Given the description of an element on the screen output the (x, y) to click on. 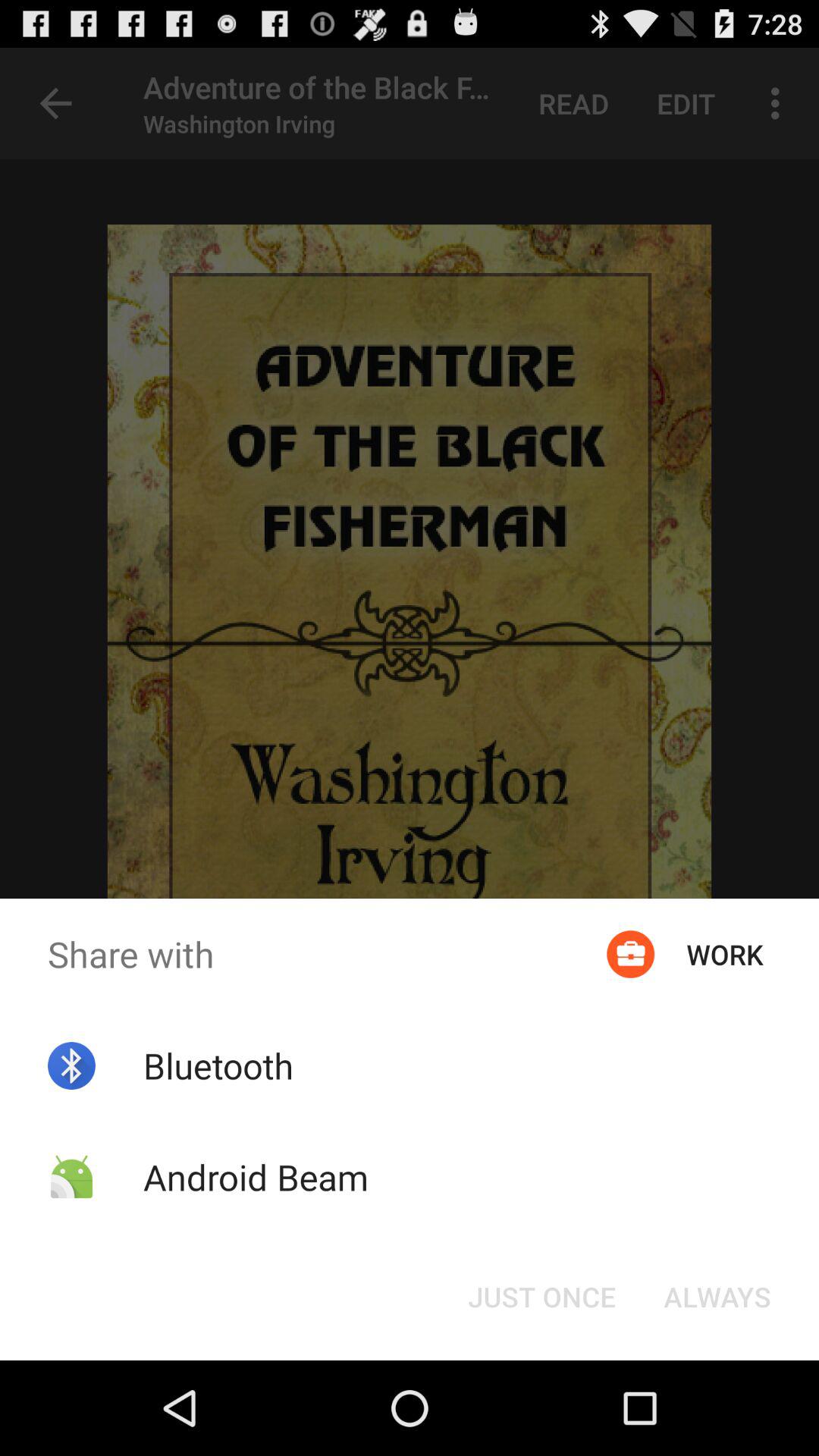
turn off the android beam app (255, 1176)
